Given the description of an element on the screen output the (x, y) to click on. 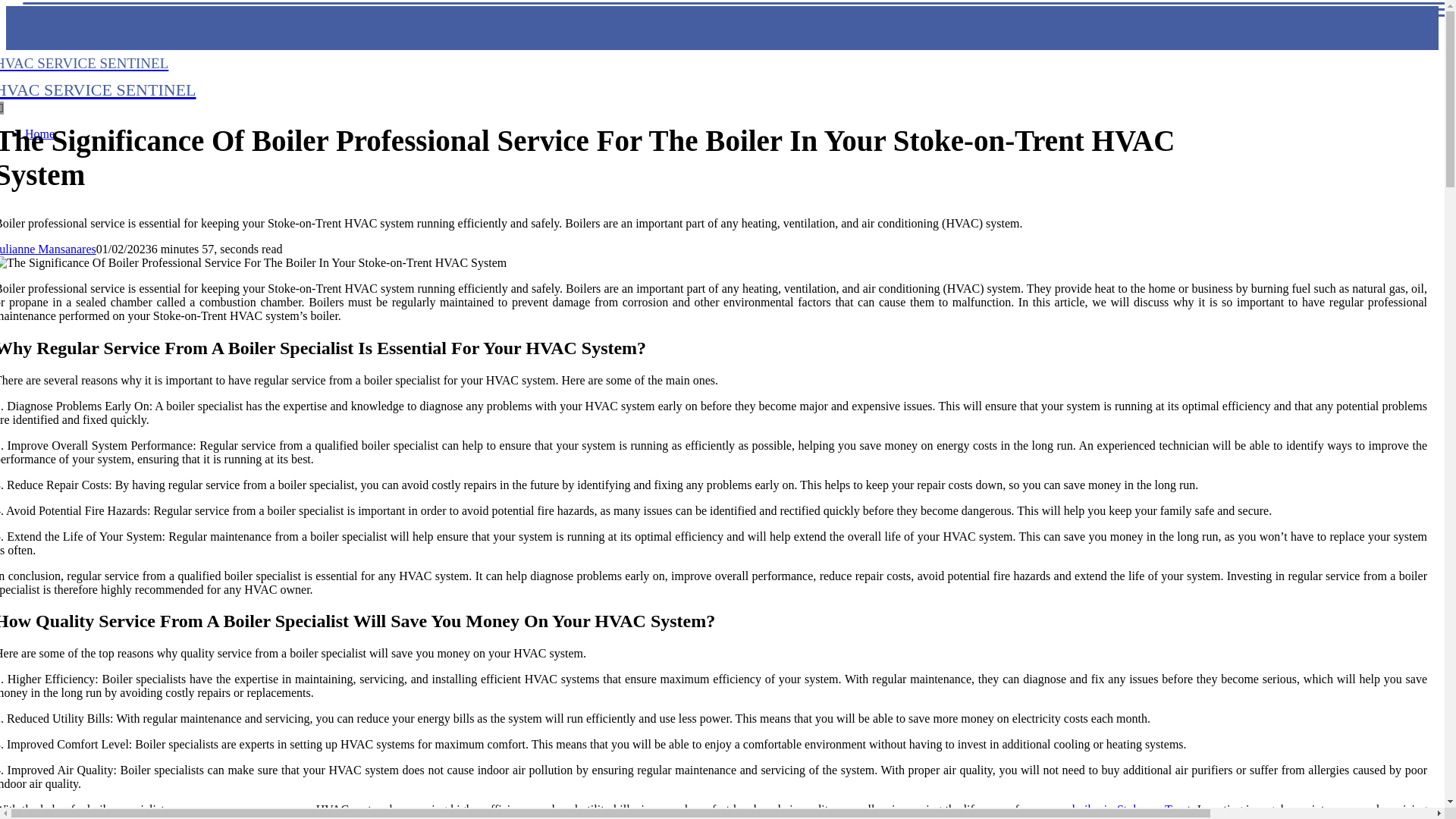
Posts by Julianne Mansanares (48, 248)
Home (39, 133)
Julianne Mansanares (98, 75)
new boiler in Stoke-on-Trent (48, 248)
